Given the description of an element on the screen output the (x, y) to click on. 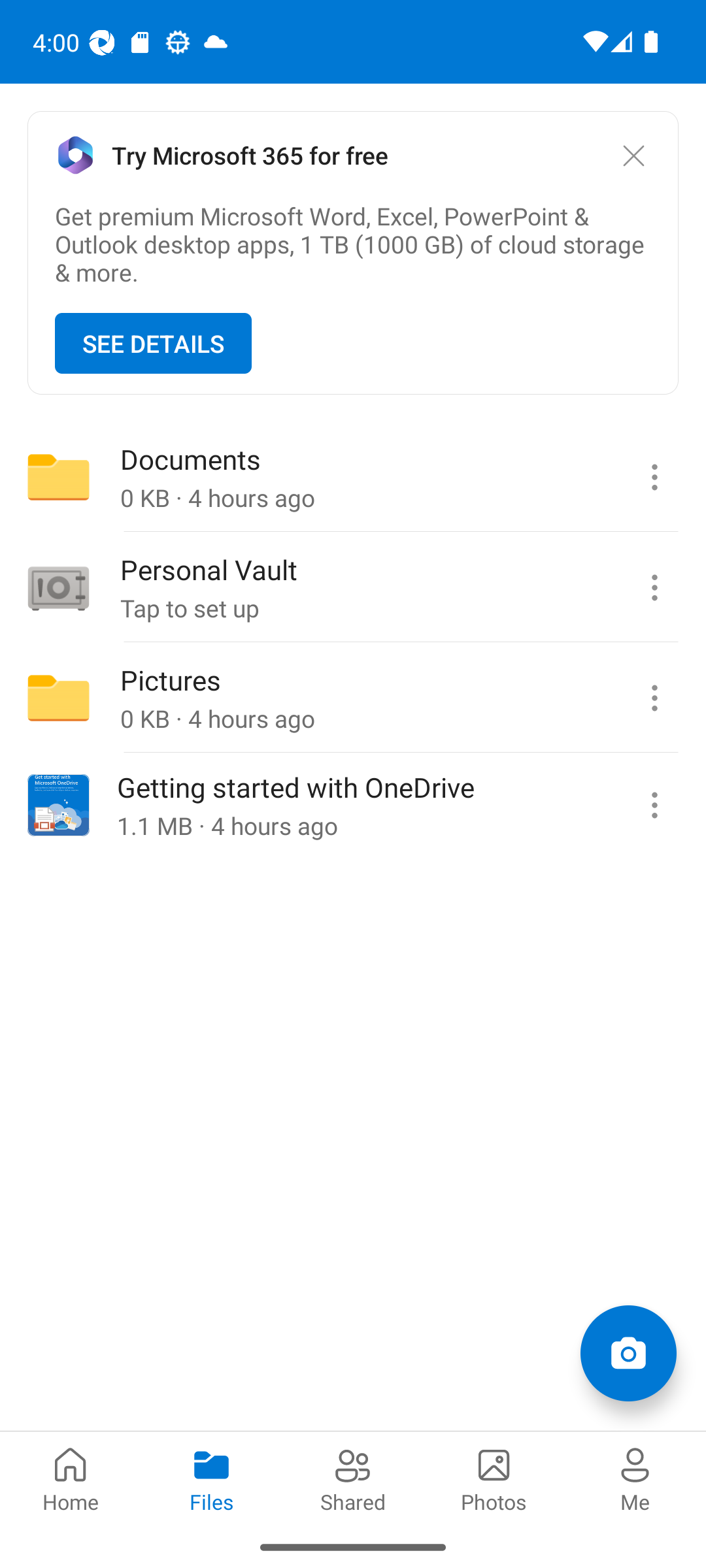
Close (633, 155)
SEE DETAILS (153, 343)
Documents commands (654, 477)
Personal Vault commands (654, 587)
Pictures commands (654, 697)
Getting started with OneDrive commands (654, 804)
Add items Scan (628, 1352)
Home pivot Home (70, 1478)
Shared pivot Shared (352, 1478)
Photos pivot Photos (493, 1478)
Me pivot Me (635, 1478)
